Given the description of an element on the screen output the (x, y) to click on. 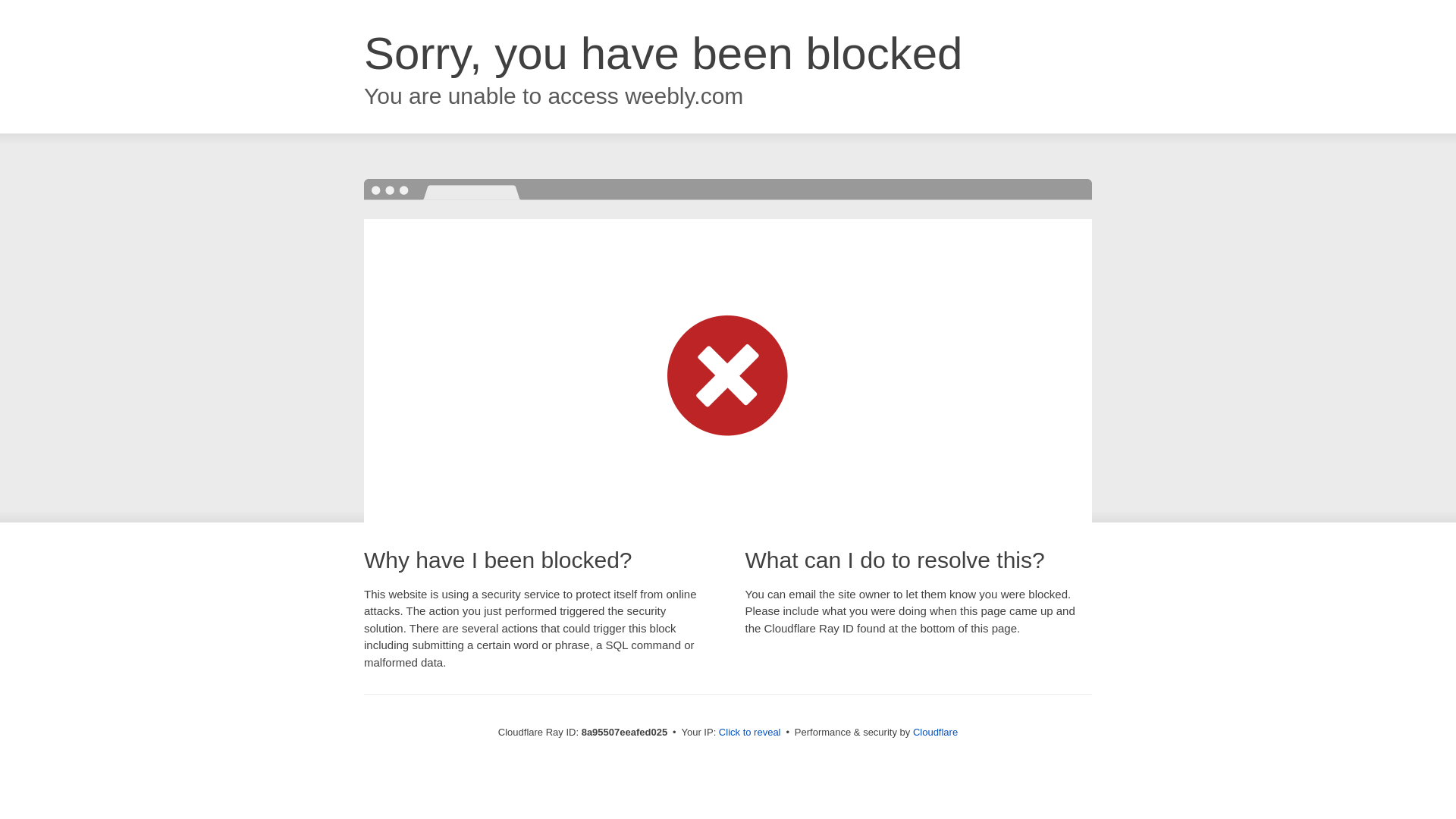
Cloudflare (935, 731)
Click to reveal (749, 732)
